Given the description of an element on the screen output the (x, y) to click on. 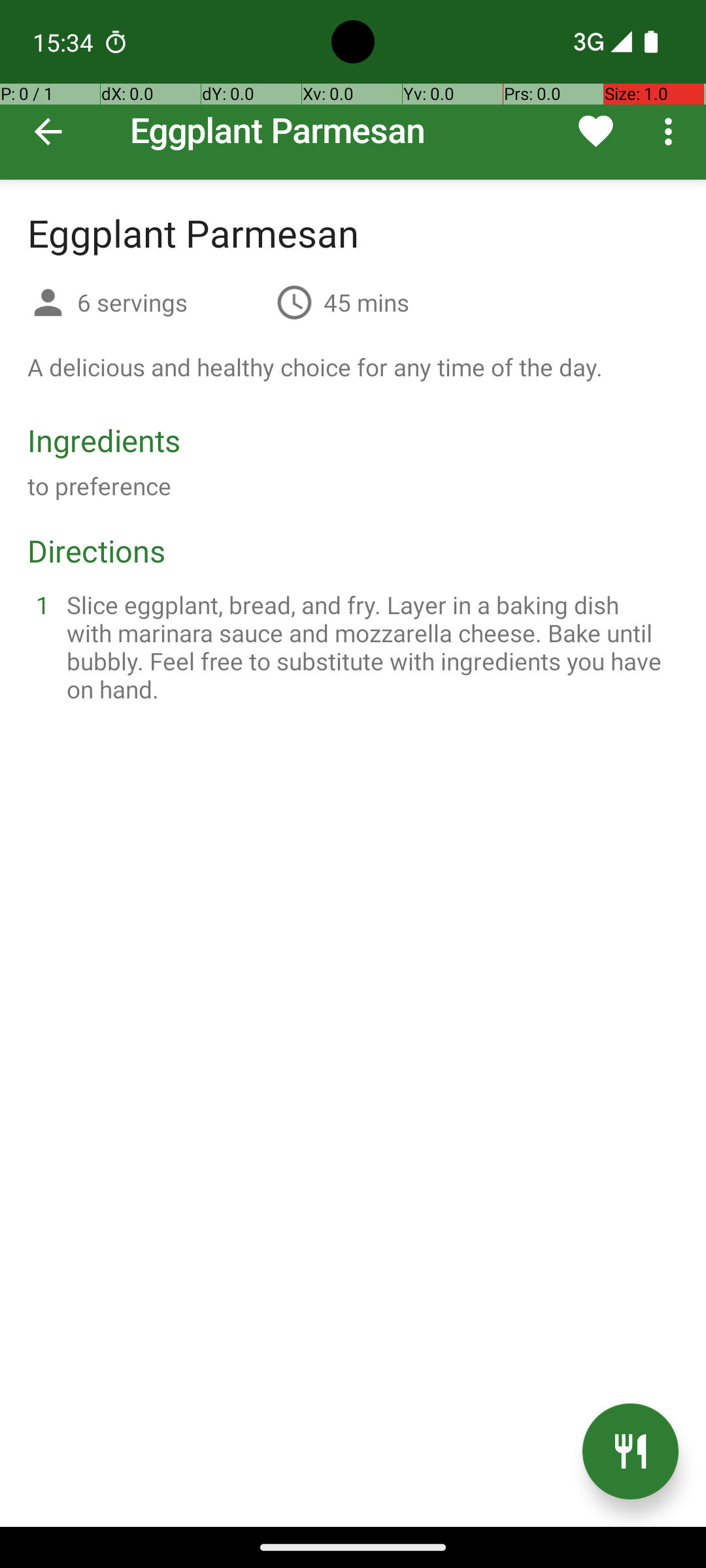
Slice eggplant, bread, and fry. Layer in a baking dish with marinara sauce and mozzarella cheese. Bake until bubbly. Feel free to substitute with ingredients you have on hand. Element type: android.widget.TextView (368, 646)
